Given the description of an element on the screen output the (x, y) to click on. 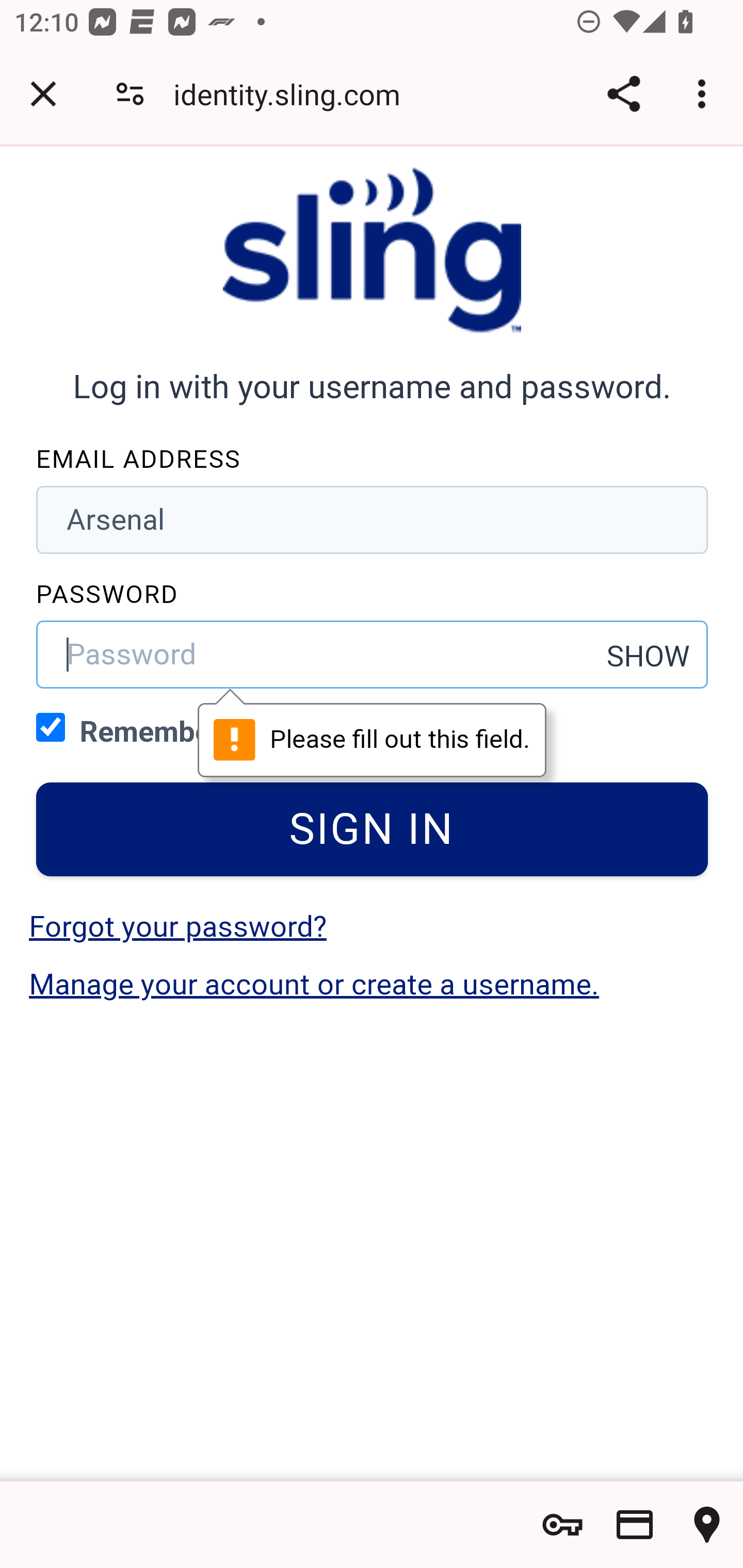
Close tab (43, 93)
Share (623, 93)
Customize and control Google Chrome (705, 93)
Connection is secure (129, 93)
identity.sling.com (294, 93)
Arsenal (372, 518)
SHOW (649, 655)
Remember Me (50, 726)
SIGN IN (372, 829)
Forgot your password? (177, 926)
Manage your account or create a username. (313, 984)
Show saved passwords and password options (562, 1524)
Show saved payment methods (634, 1524)
Show saved addresses (706, 1524)
